Given the description of an element on the screen output the (x, y) to click on. 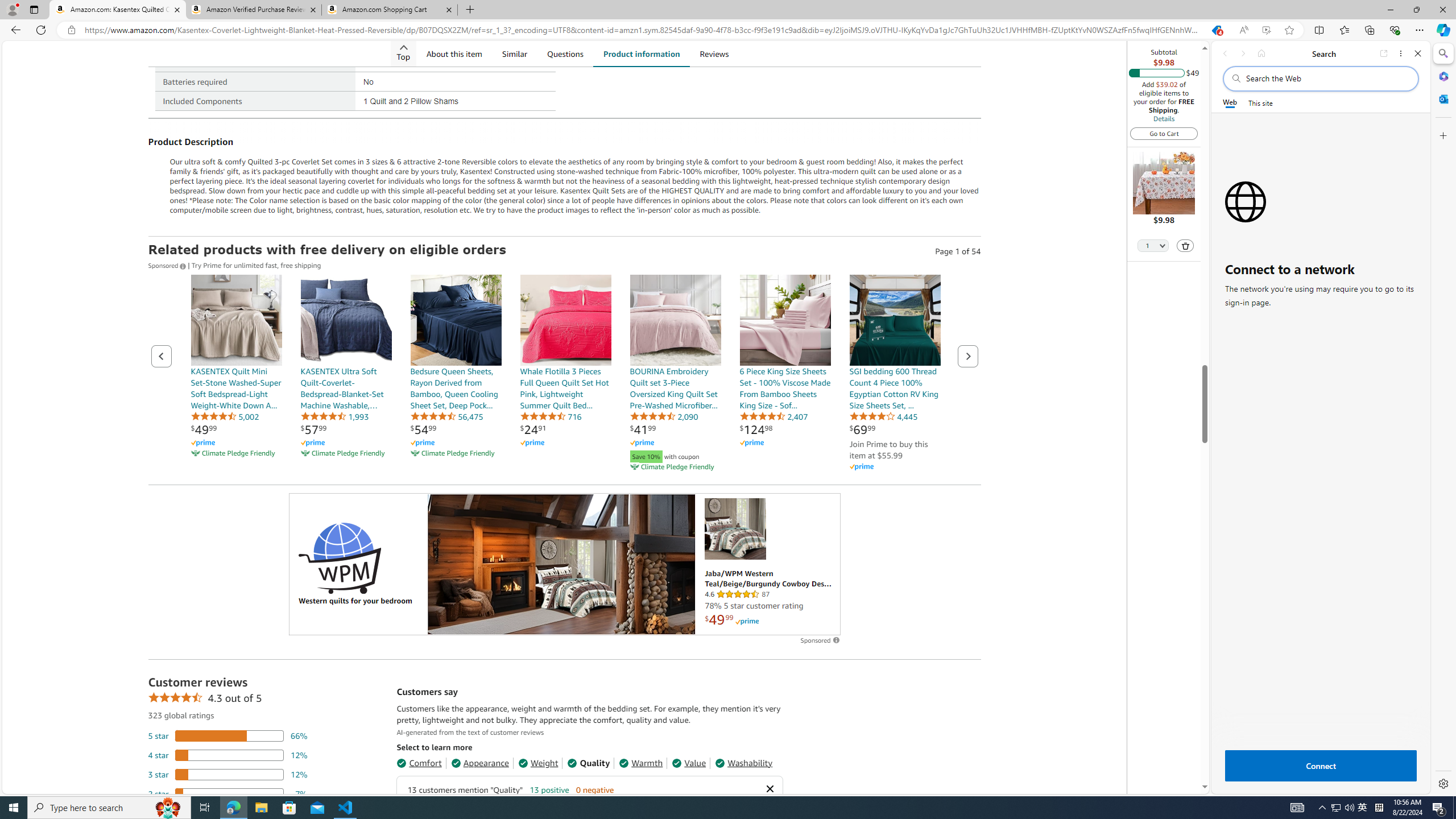
Open link in new tab (1383, 53)
Join Prime to buy this item at $55.99 (888, 449)
Weight (537, 762)
Sponsored ad (564, 563)
Appearance (479, 762)
Forward (1242, 53)
12 percent of reviews have 3 stars (227, 774)
Previous page of related Sponsored Products (161, 355)
66 percent of reviews have 5 stars (227, 735)
